Given the description of an element on the screen output the (x, y) to click on. 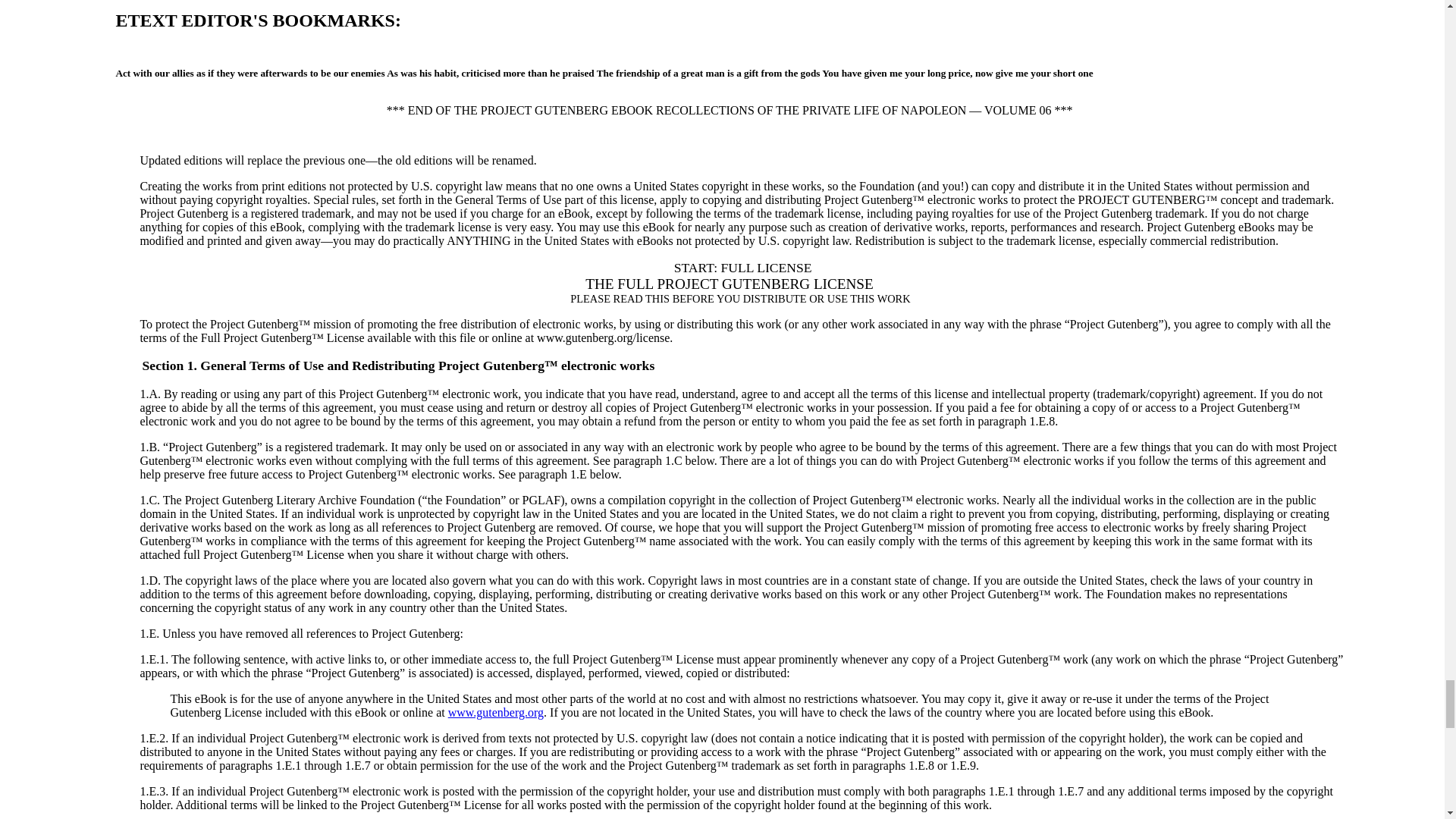
www.gutenberg.org (495, 712)
